Given the description of an element on the screen output the (x, y) to click on. 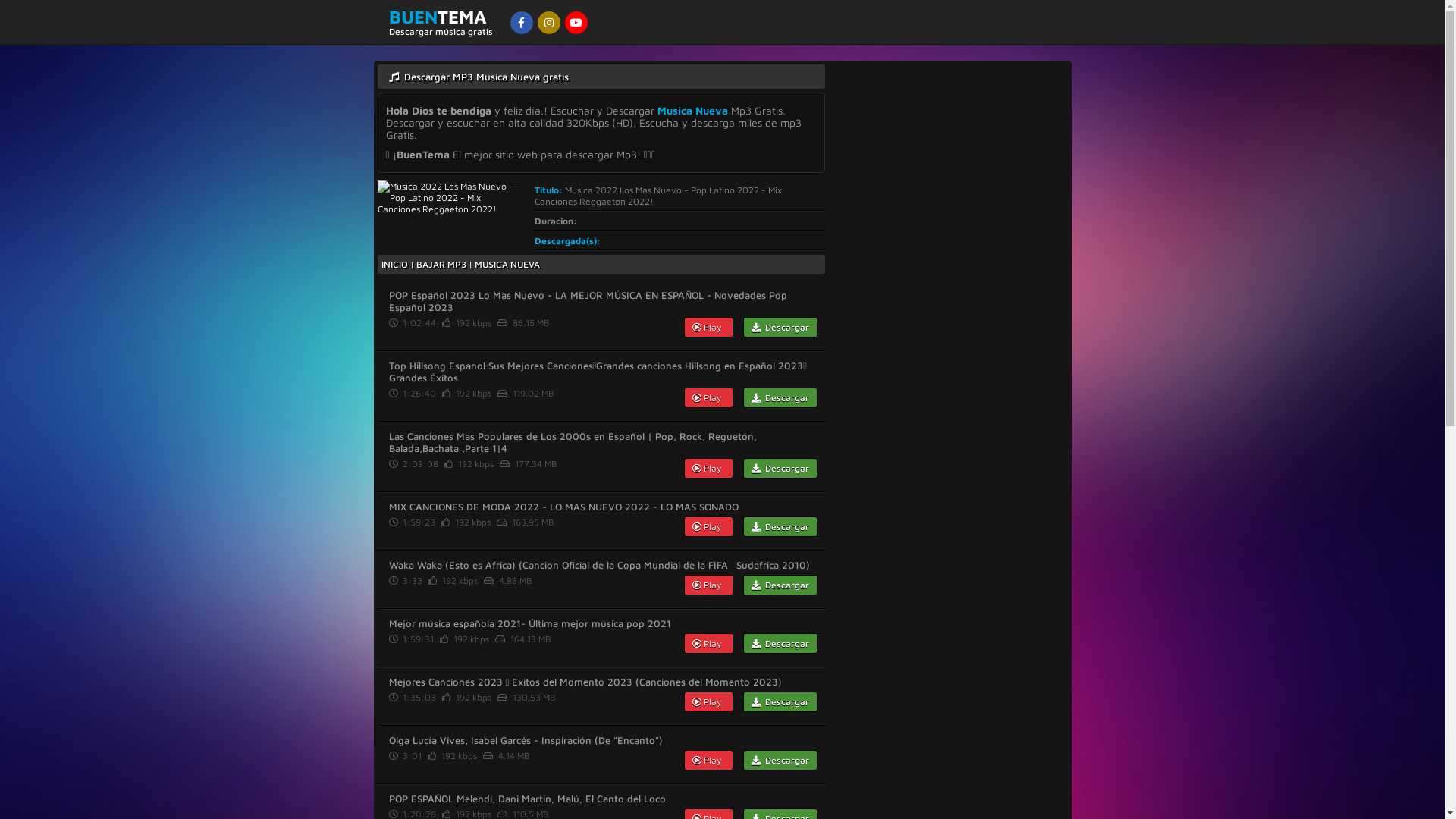
Descargar Element type: text (780, 759)
Play Element type: text (708, 759)
Play Element type: text (708, 701)
Play Element type: text (708, 643)
Play Element type: text (708, 397)
Descargar Element type: text (780, 468)
MUSICA NUEVA Element type: text (506, 263)
Play Element type: text (708, 526)
INICIO Element type: text (393, 263)
Descargar Element type: text (780, 526)
Play Element type: text (708, 326)
Descargar Element type: text (780, 584)
Play Element type: text (708, 468)
Descargar Element type: text (780, 397)
Play Element type: text (708, 584)
Musica Nueva Element type: text (691, 109)
Descargar Element type: text (780, 326)
Descargar Element type: text (780, 701)
Descargar Element type: text (780, 643)
BAJAR MP3 Element type: text (440, 263)
